Given the description of an element on the screen output the (x, y) to click on. 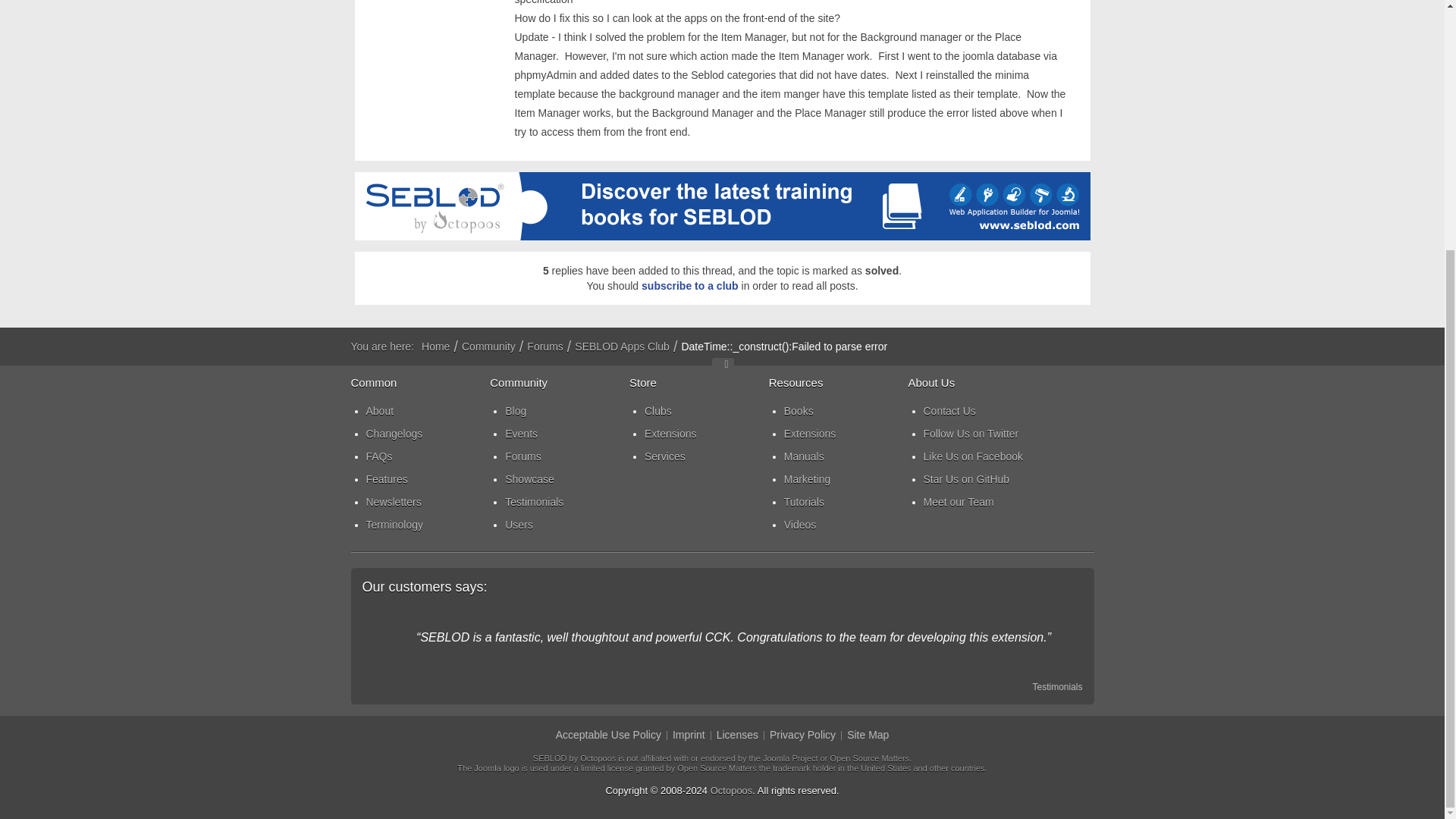
Testimonials (566, 501)
Newsletters (427, 501)
Octopoos Company Website. (731, 790)
Forums (566, 456)
Showcase (566, 478)
Events (566, 433)
Services (706, 456)
Community (488, 346)
SEBLOD Apps Club (622, 346)
Home (435, 346)
Features (427, 478)
Changelogs (427, 433)
subscribe to a club (690, 285)
Terminology (427, 524)
FAQs (427, 456)
